Given the description of an element on the screen output the (x, y) to click on. 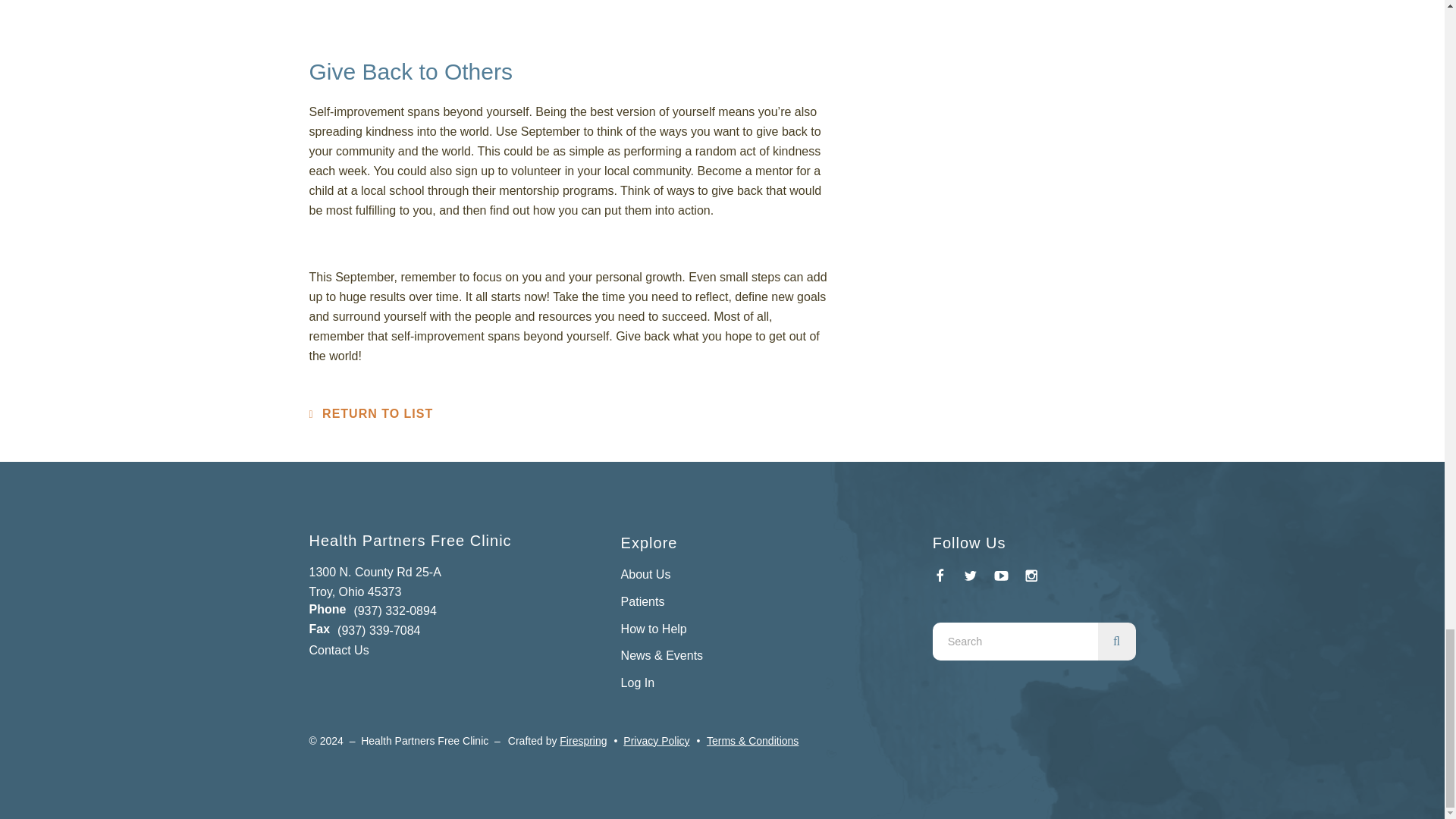
About Us (646, 574)
search (1116, 641)
RETURN TO LIST (370, 413)
Contact Us (338, 649)
